Given the description of an element on the screen output the (x, y) to click on. 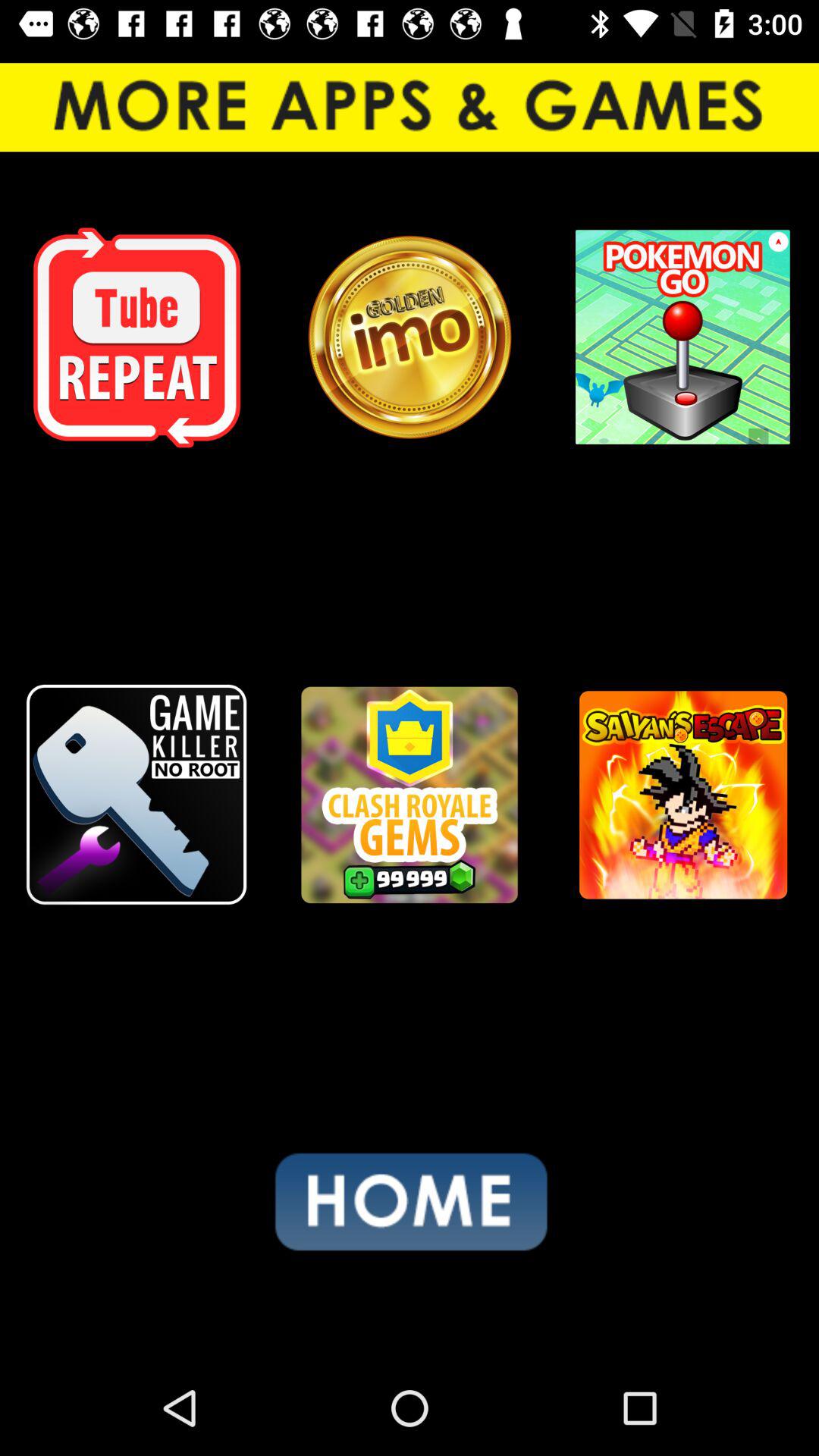
select game (409, 794)
